Given the description of an element on the screen output the (x, y) to click on. 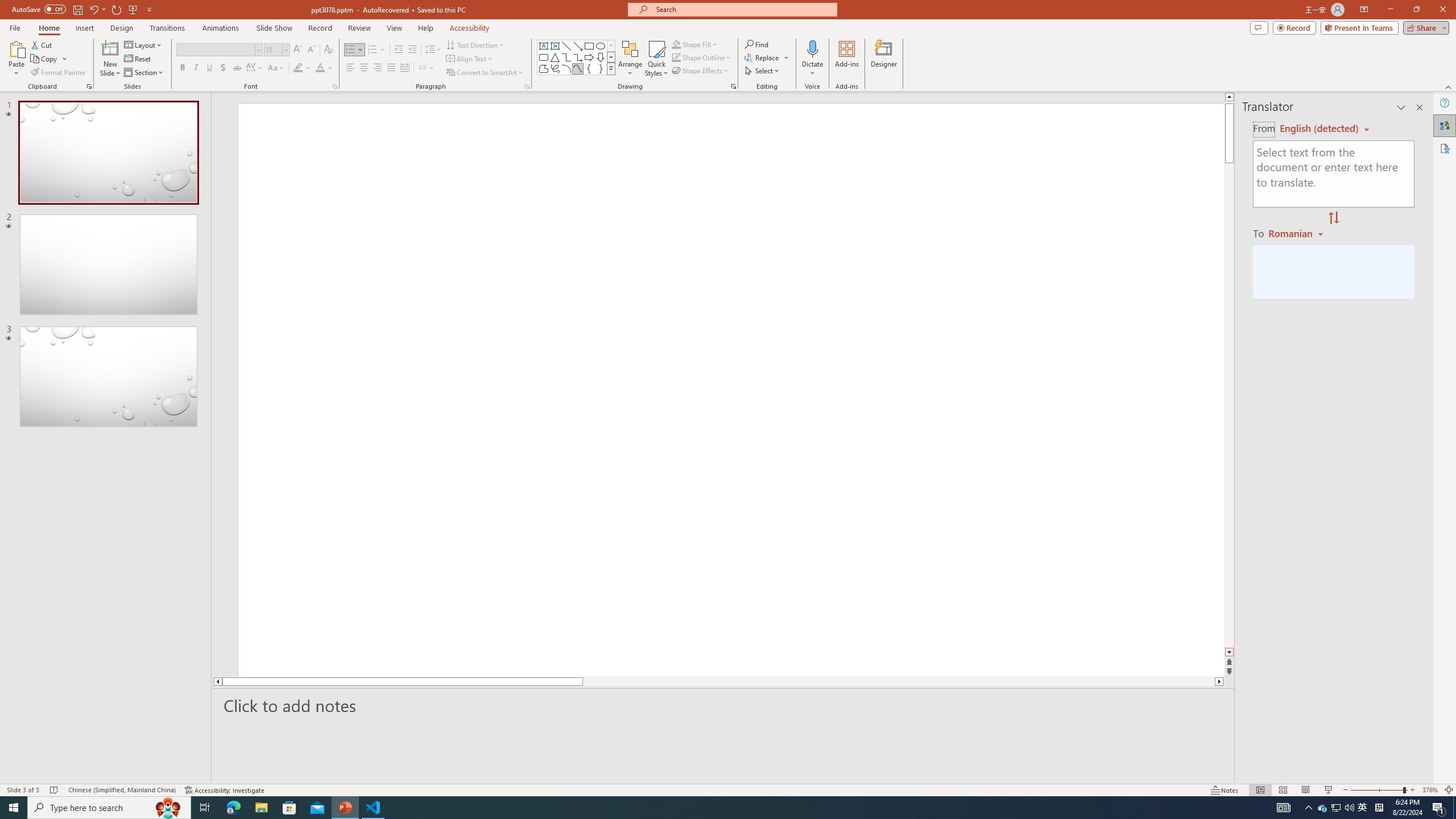
Oval (600, 45)
Isosceles Triangle (554, 57)
Dictate (812, 48)
Font... (334, 85)
Rectangle (589, 45)
Shape Fill Dark Green, Accent 2 (675, 44)
Class: NetUIImage (610, 68)
Notes  (1225, 790)
Text Highlight Color Yellow (297, 67)
Clear Formatting (327, 49)
Strikethrough (237, 67)
Spell Check No Errors (54, 790)
